Given the description of an element on the screen output the (x, y) to click on. 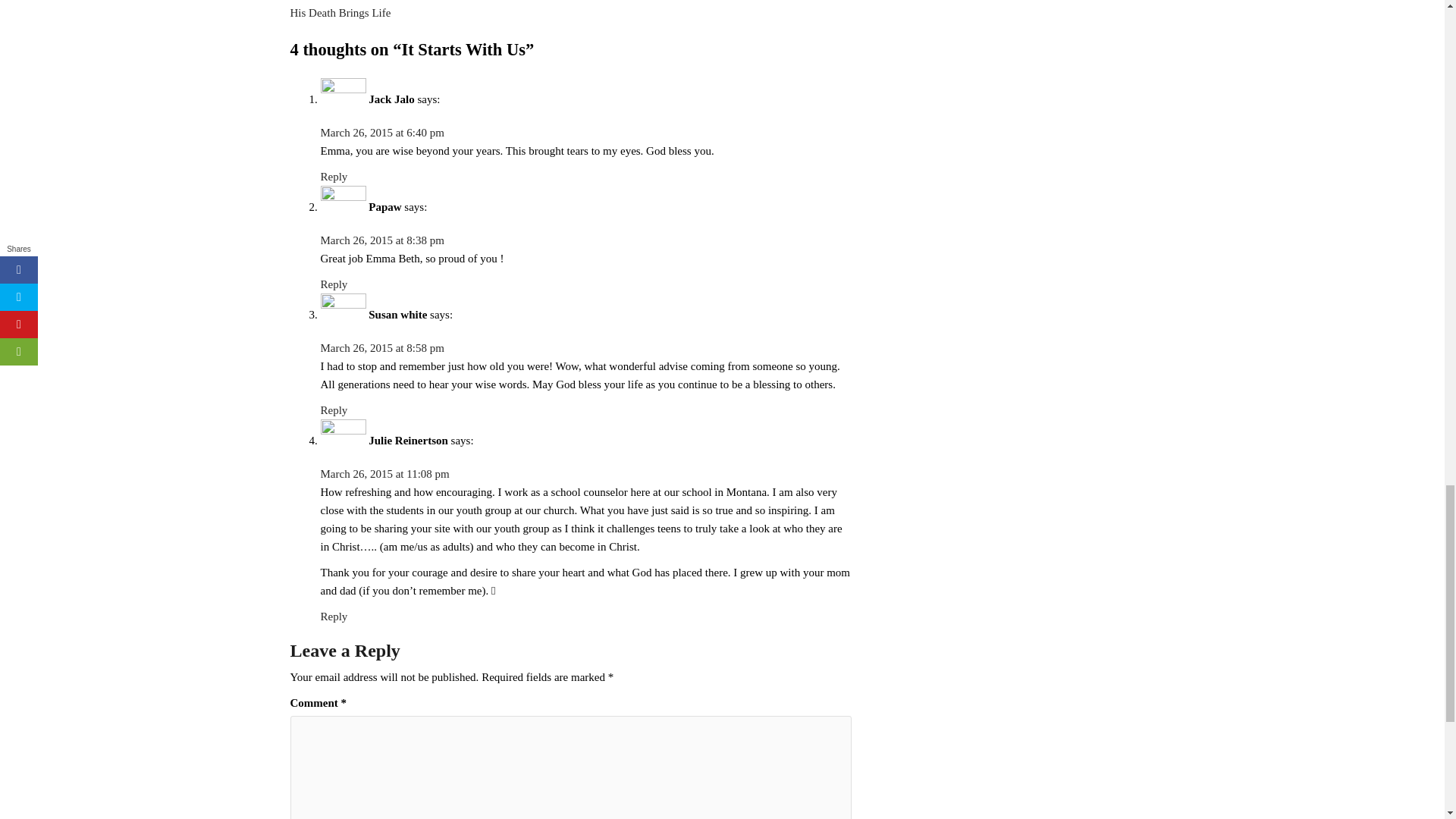
March 26, 2015 at 6:40 pm (382, 132)
Beautiful Chaos (325, 0)
March 26, 2015 at 8:38 pm (382, 240)
His Death Brings Life (339, 12)
March 26, 2015 at 8:58 pm (382, 347)
Reply (333, 176)
Reply (333, 616)
Reply (333, 410)
Reply (333, 284)
March 26, 2015 at 11:08 pm (384, 473)
